Given the description of an element on the screen output the (x, y) to click on. 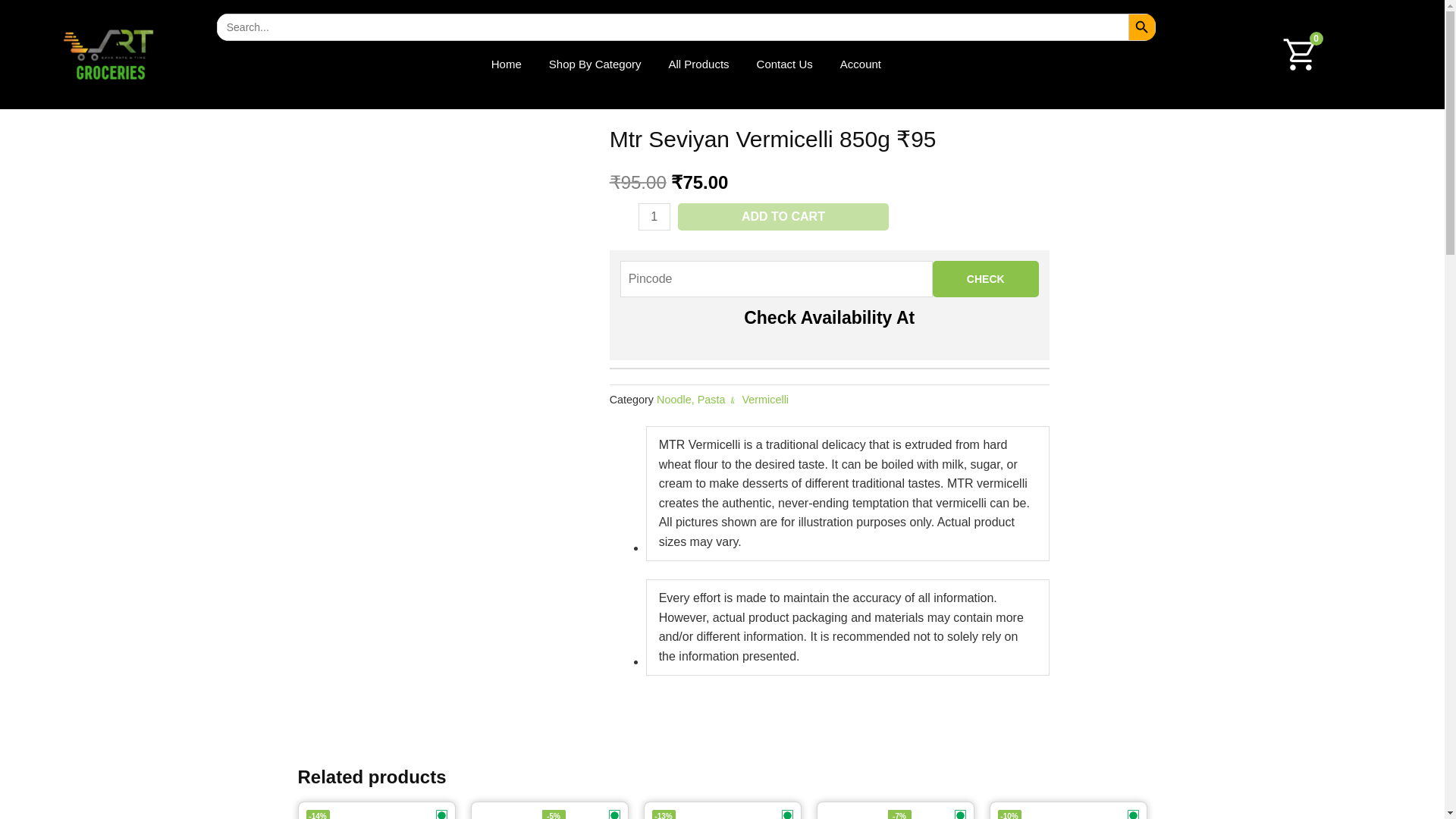
Check (986, 279)
Shop By Category (595, 64)
1 (654, 216)
SEARCH BUTTON (1142, 26)
Home (506, 64)
